Given the description of an element on the screen output the (x, y) to click on. 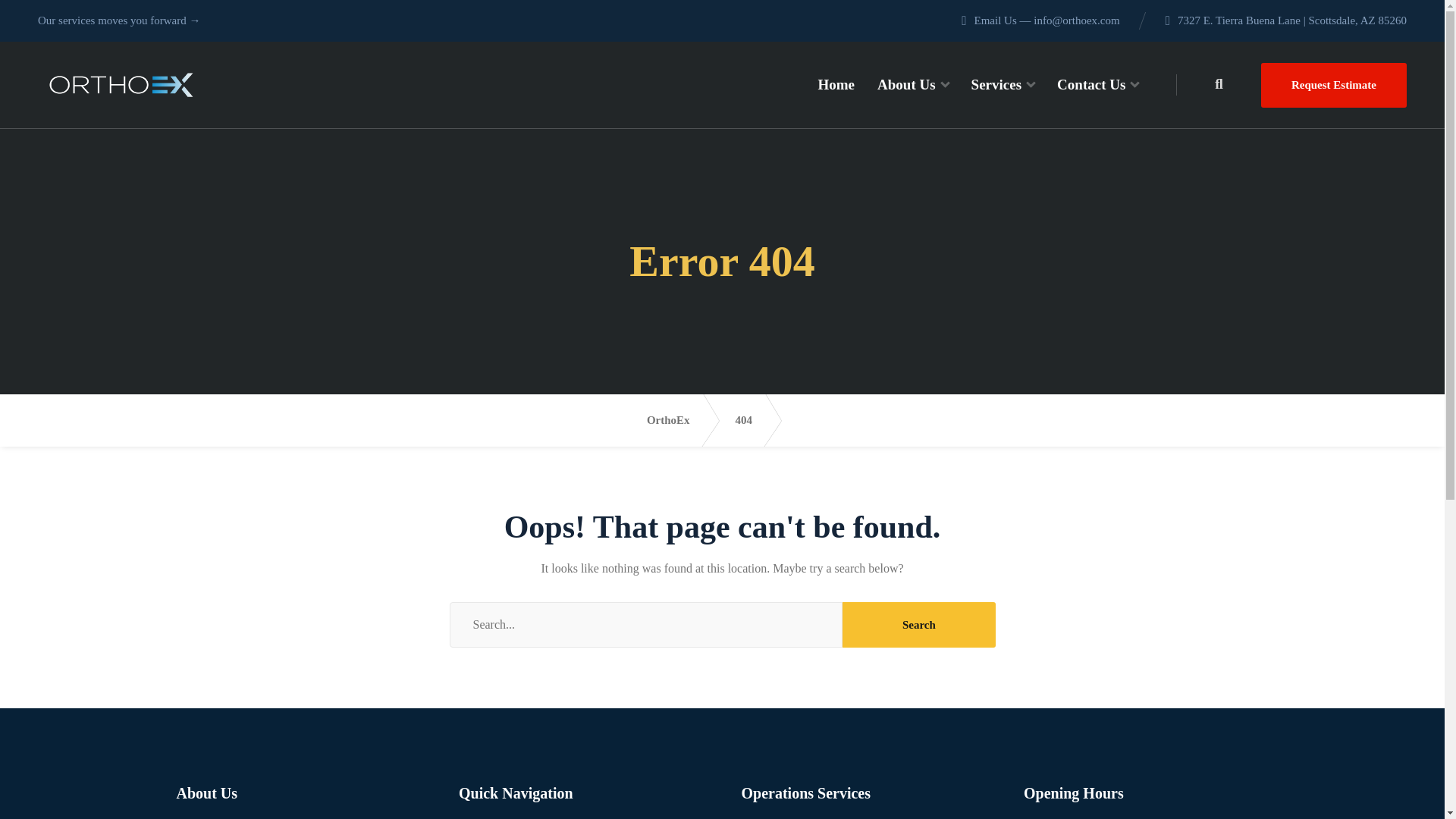
Contact Us (1097, 84)
OrthoEx (681, 419)
Search (918, 624)
Search (918, 624)
Request Estimate (1333, 84)
Search (918, 624)
Go to OrthoEx. (681, 419)
OrthoEx (121, 84)
